Given the description of an element on the screen output the (x, y) to click on. 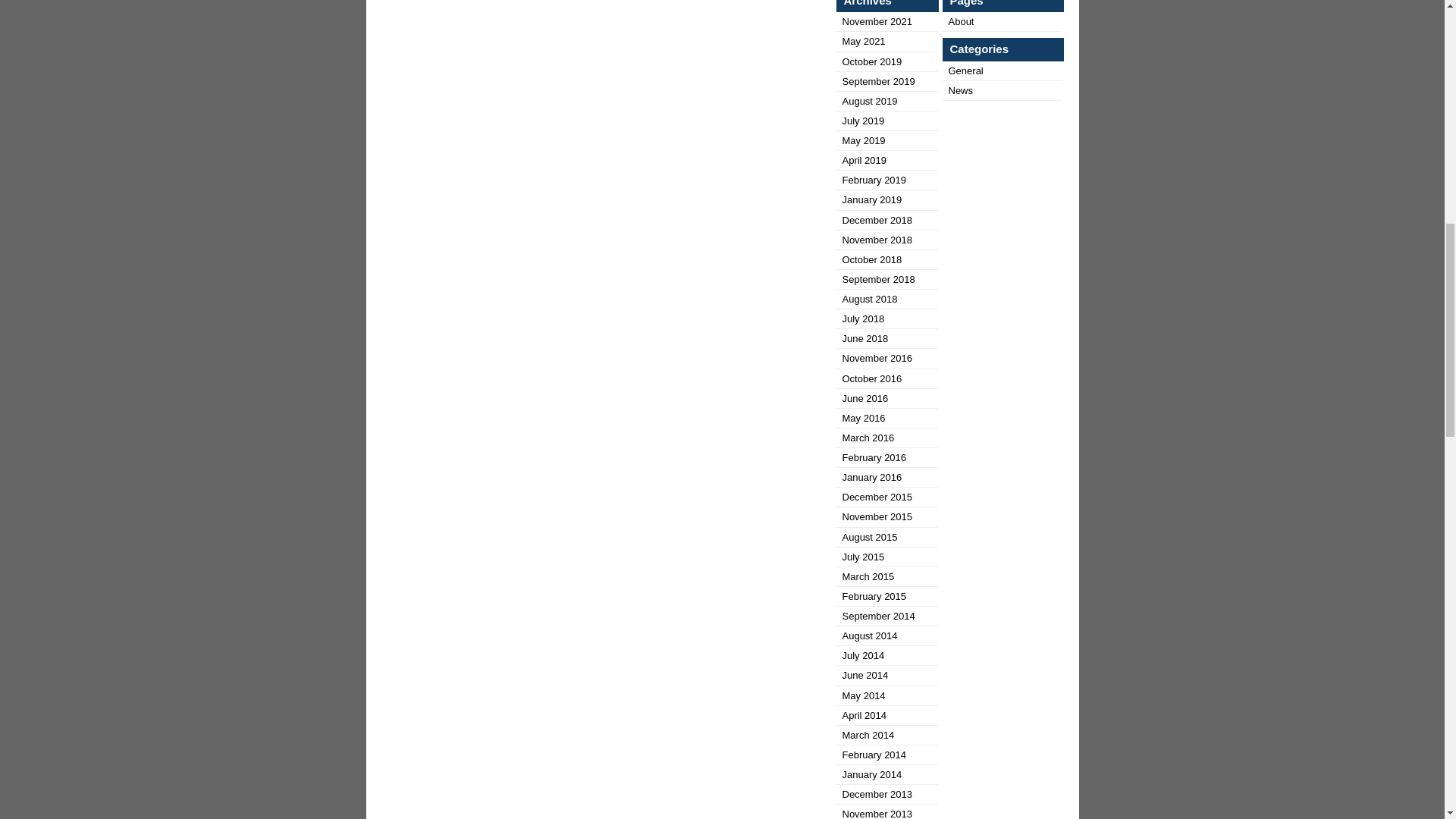
June 2016 (864, 398)
July 2019 (862, 120)
November 2018 (876, 239)
July 2018 (862, 318)
November 2021 (876, 21)
November 2016 (876, 357)
September 2018 (877, 279)
September 2019 (877, 81)
March 2016 (867, 437)
February 2016 (873, 457)
